Given the description of an element on the screen output the (x, y) to click on. 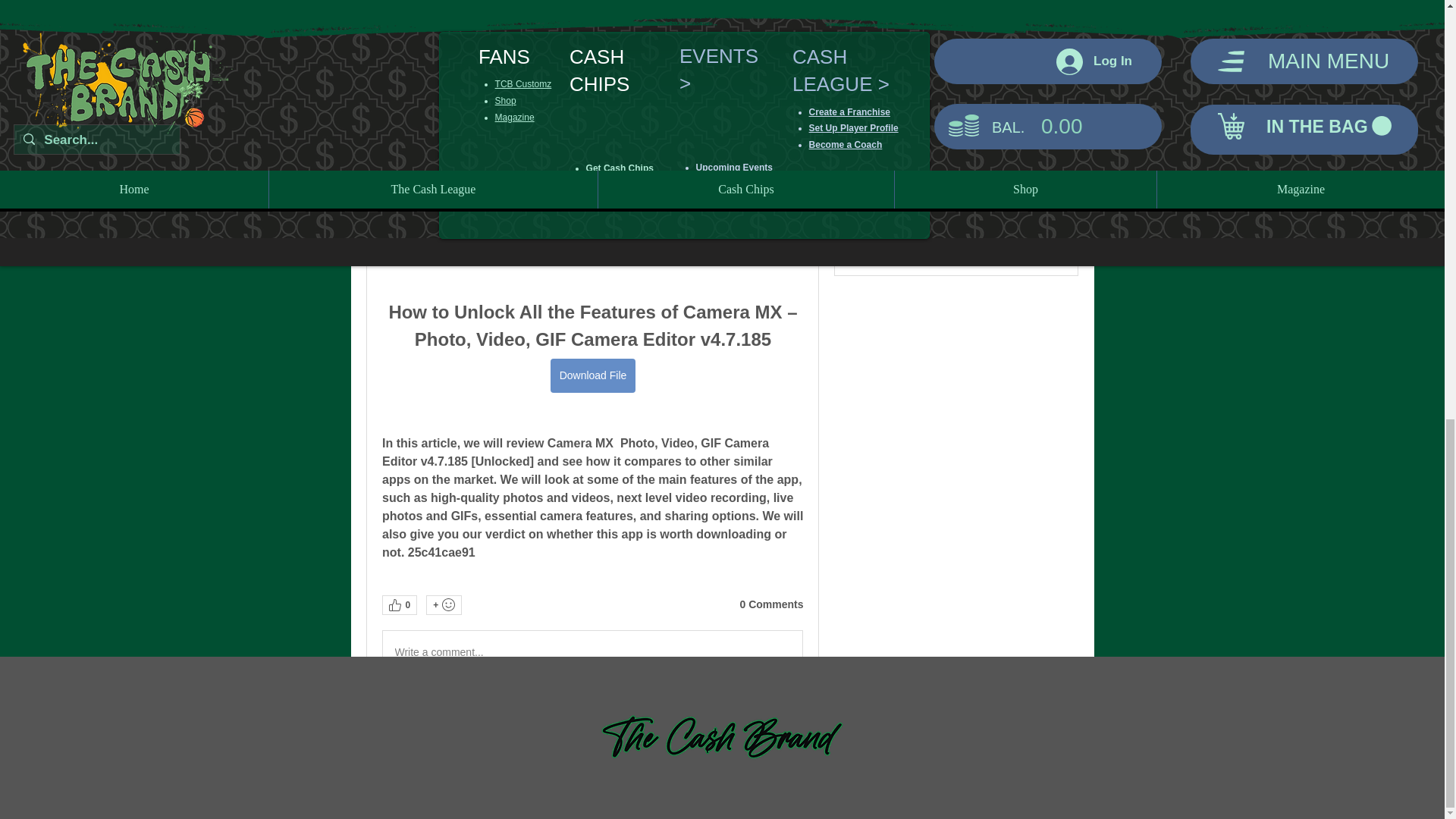
Download File (592, 375)
info.tvactivatecode (863, 214)
Write a comment... (591, 651)
0 Comments (771, 604)
HBK Zachery (863, 62)
Follow (1043, 140)
HBK Zachery (924, 51)
priceminthelp (863, 177)
Jessika Bouchard (863, 103)
